Given the description of an element on the screen output the (x, y) to click on. 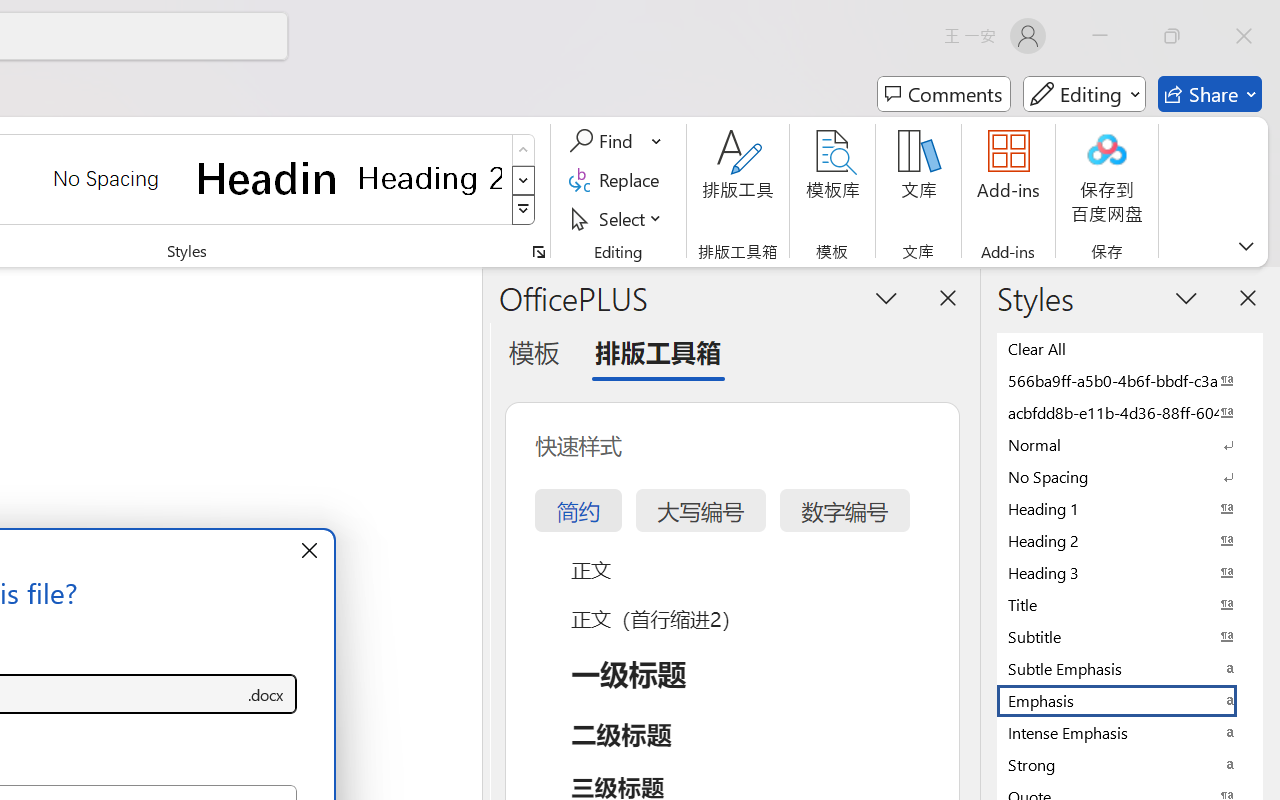
No Spacing (1130, 476)
Select (618, 218)
Row up (523, 150)
Share (1210, 94)
Emphasis (1130, 700)
